Given the description of an element on the screen output the (x, y) to click on. 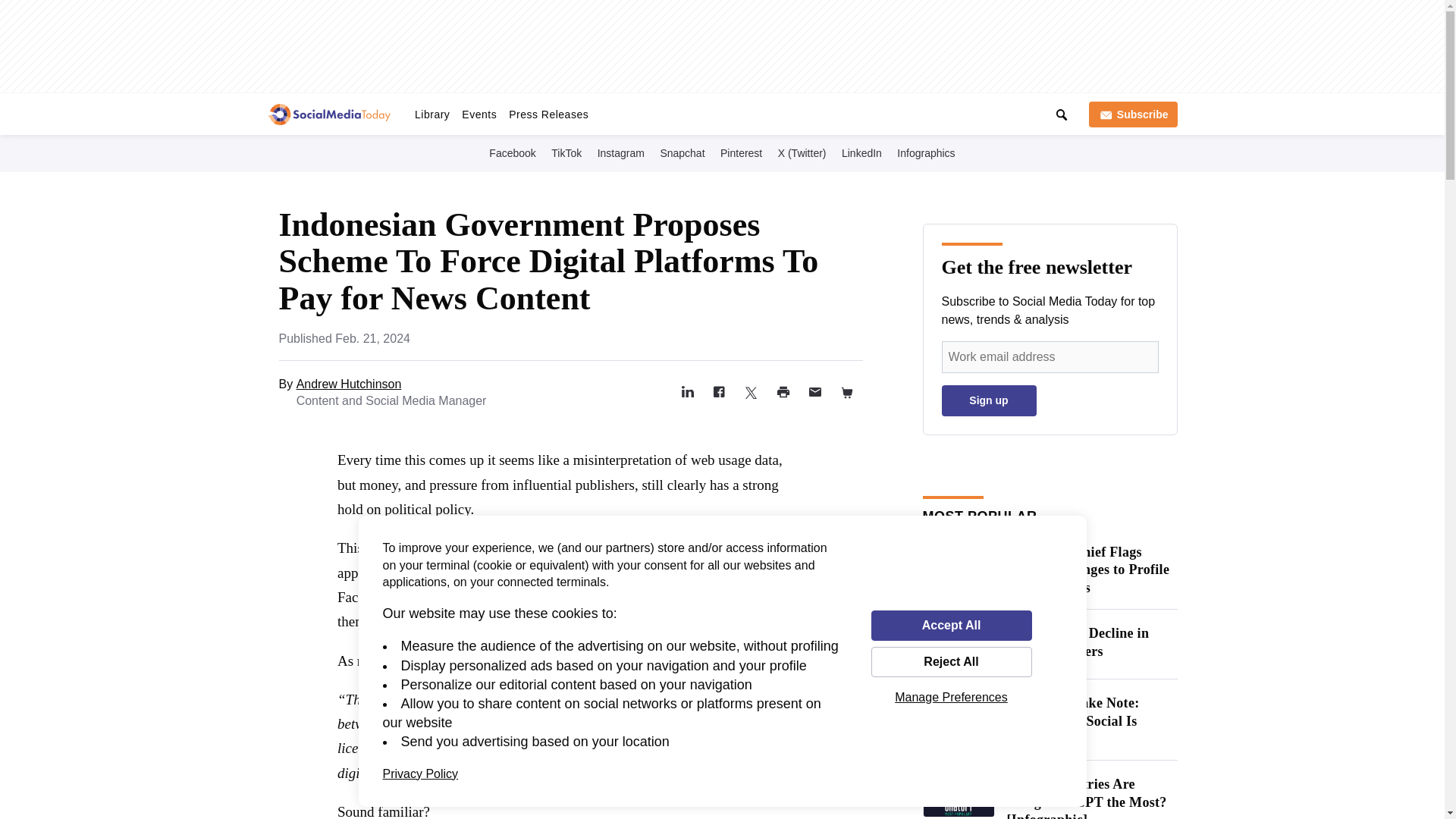
SMT Experts (710, 110)
Facebook (512, 152)
announced (661, 547)
Manage Preferences (950, 697)
LinkedIn (861, 152)
TikTok (566, 152)
Become a Contributor (806, 110)
Pinterest (741, 152)
Andrew Hutchinson (349, 383)
Subscribe (1132, 114)
